Given the description of an element on the screen output the (x, y) to click on. 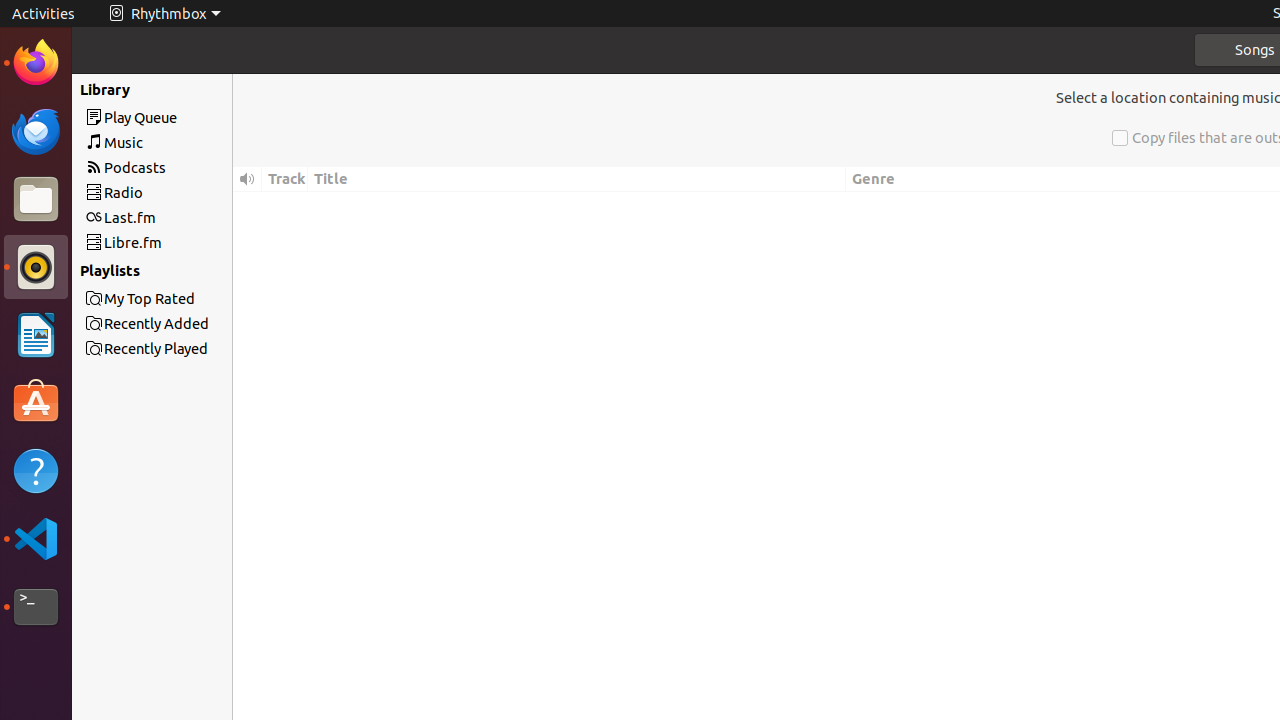
Last.fm Element type: table-cell (188, 217)
luyi1 Element type: label (133, 89)
Track Element type: table-column-header (285, 179)
Podcasts Element type: table-cell (188, 167)
